Given the description of an element on the screen output the (x, y) to click on. 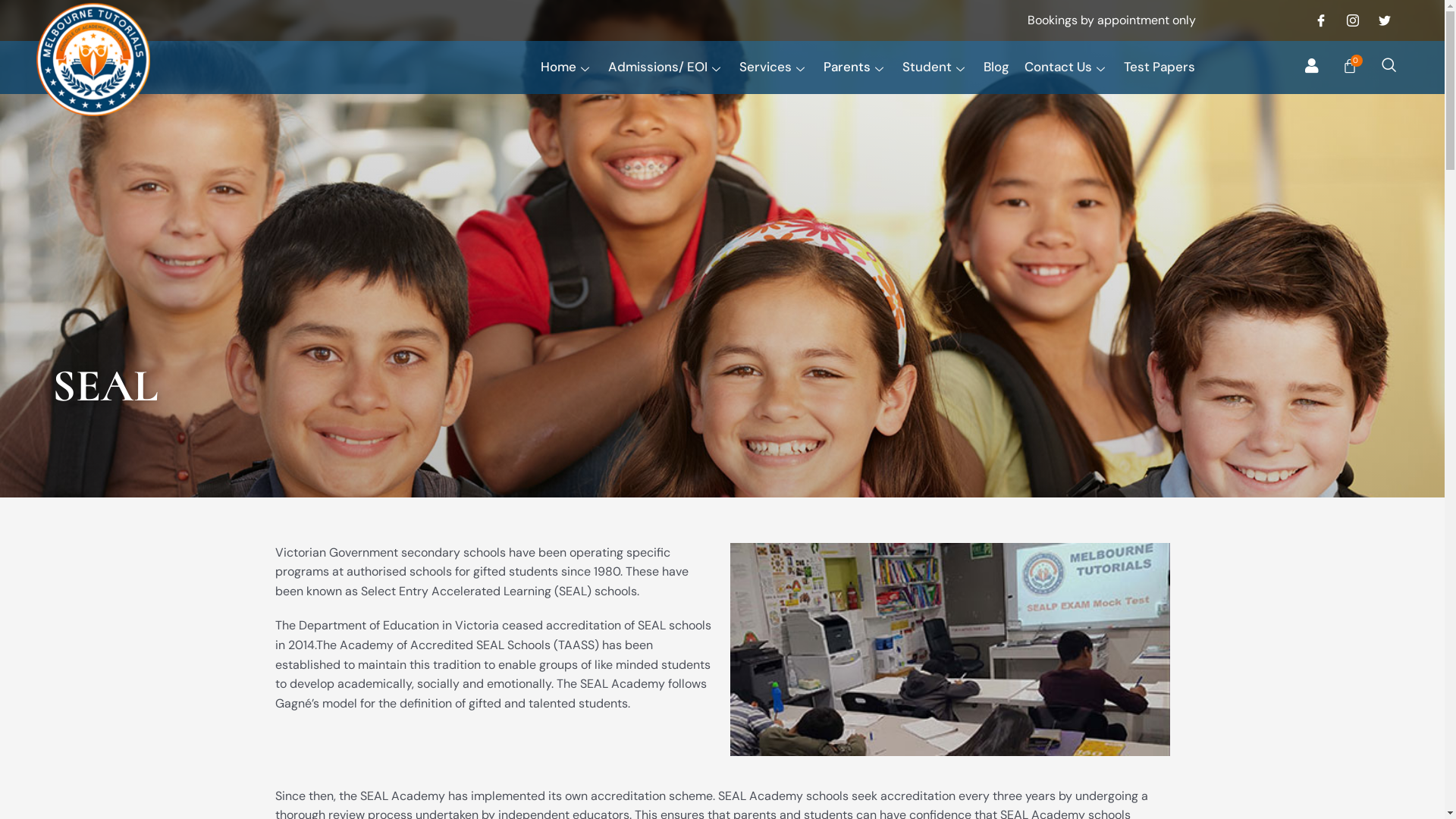
Contact Us Element type: text (1073, 67)
Test Papers Element type: text (1166, 67)
Admissions/ EOI Element type: text (673, 67)
Parents Element type: text (862, 67)
Bookings by appointment only Element type: text (1111, 20)
Blog Element type: text (1003, 67)
0
CART Element type: text (1350, 65)
Services Element type: text (781, 67)
Student Element type: text (942, 67)
Home Element type: text (574, 67)
